Given the description of an element on the screen output the (x, y) to click on. 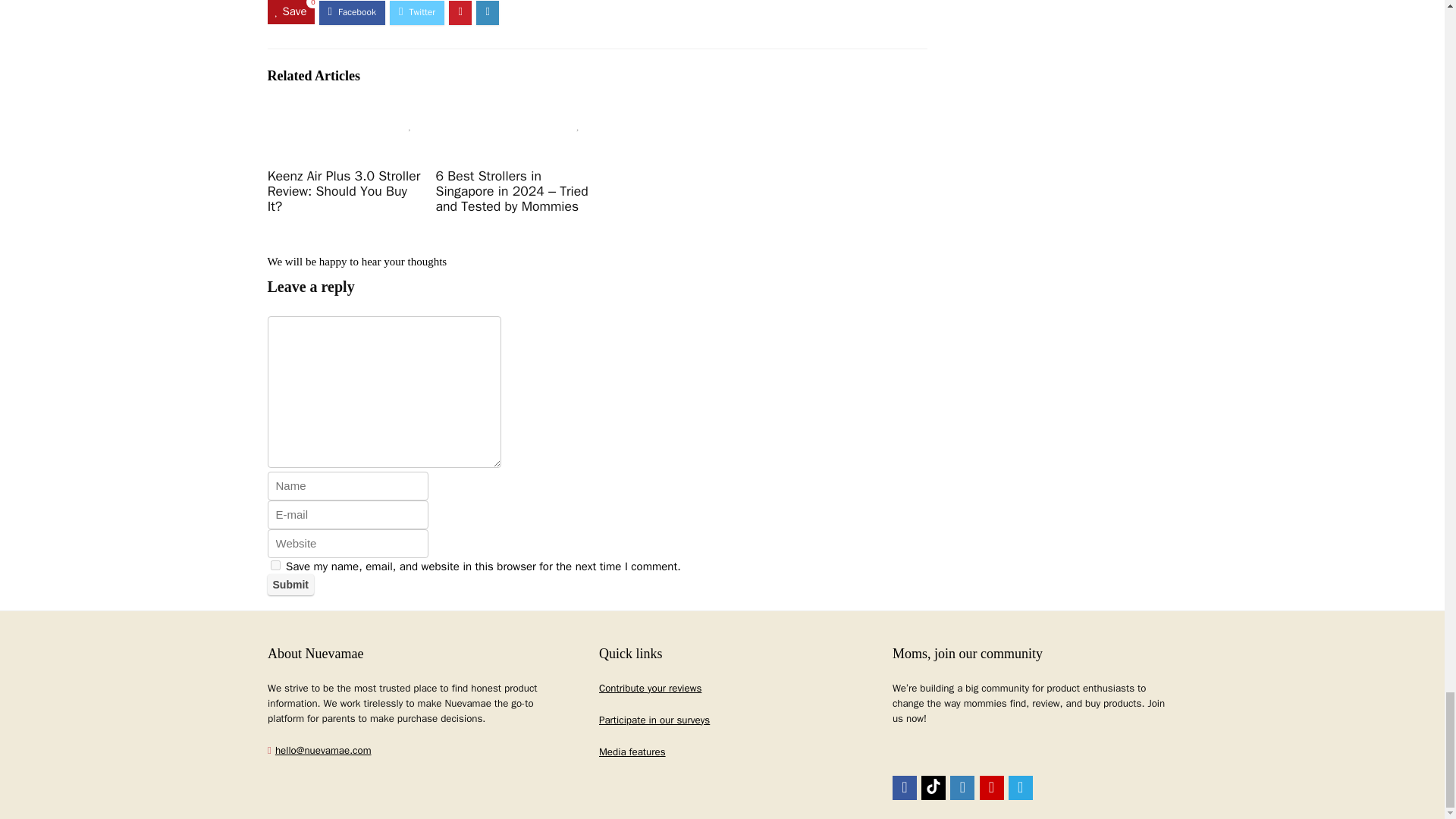
Submit (289, 584)
yes (274, 565)
